Given the description of an element on the screen output the (x, y) to click on. 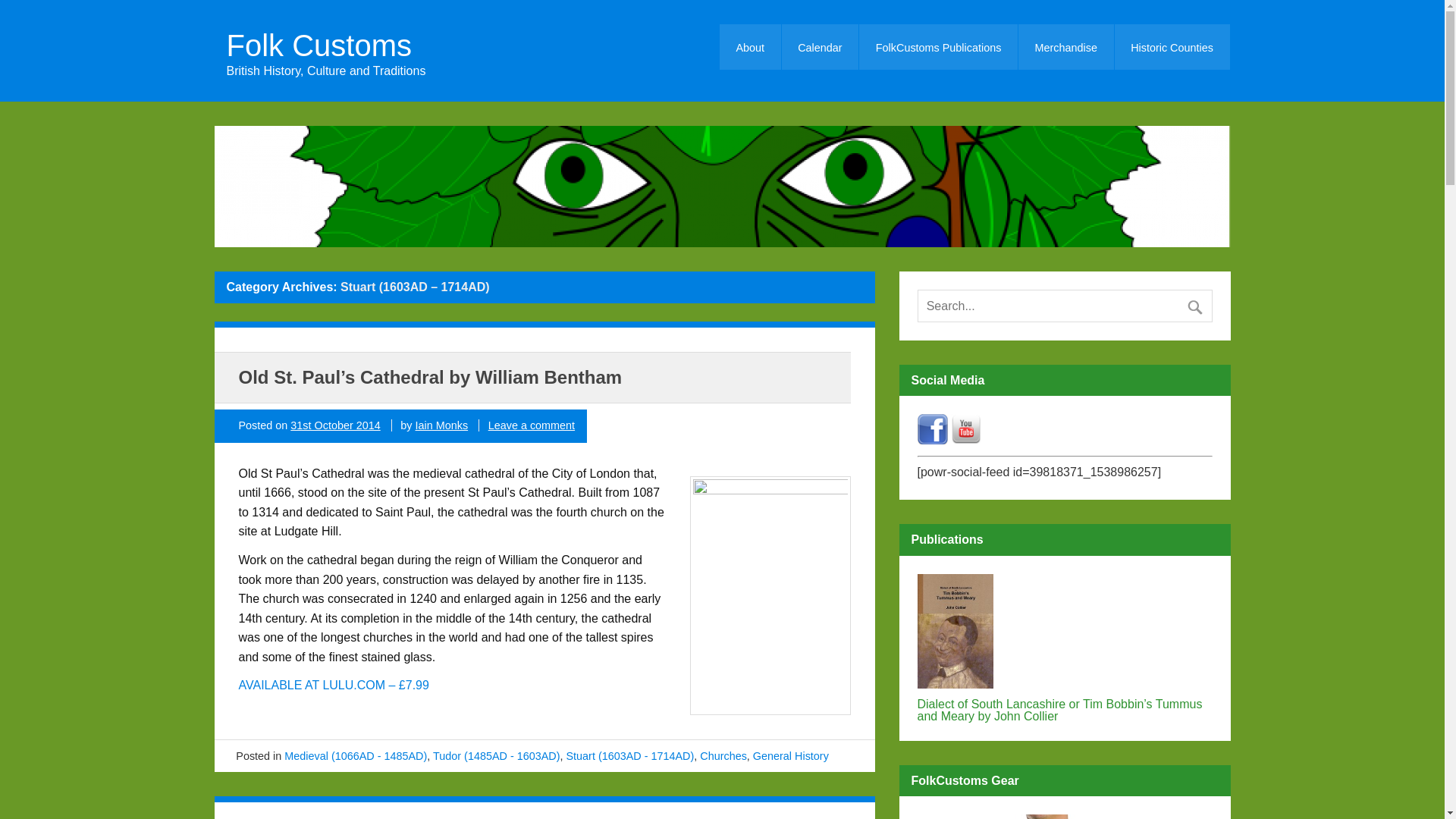
Folk Customs (325, 45)
Folk Customs (325, 45)
FolkCustoms Publications (938, 46)
Leave a comment (531, 425)
31st October 2014 (334, 425)
Merchandise (1065, 46)
General History (790, 756)
1:46 pm (334, 425)
Historic Counties (1172, 46)
Calendar (820, 46)
View all posts by Iain Monks (441, 425)
Churches (723, 756)
About (749, 46)
Merchandise (1065, 46)
Iain Monks (441, 425)
